Given the description of an element on the screen output the (x, y) to click on. 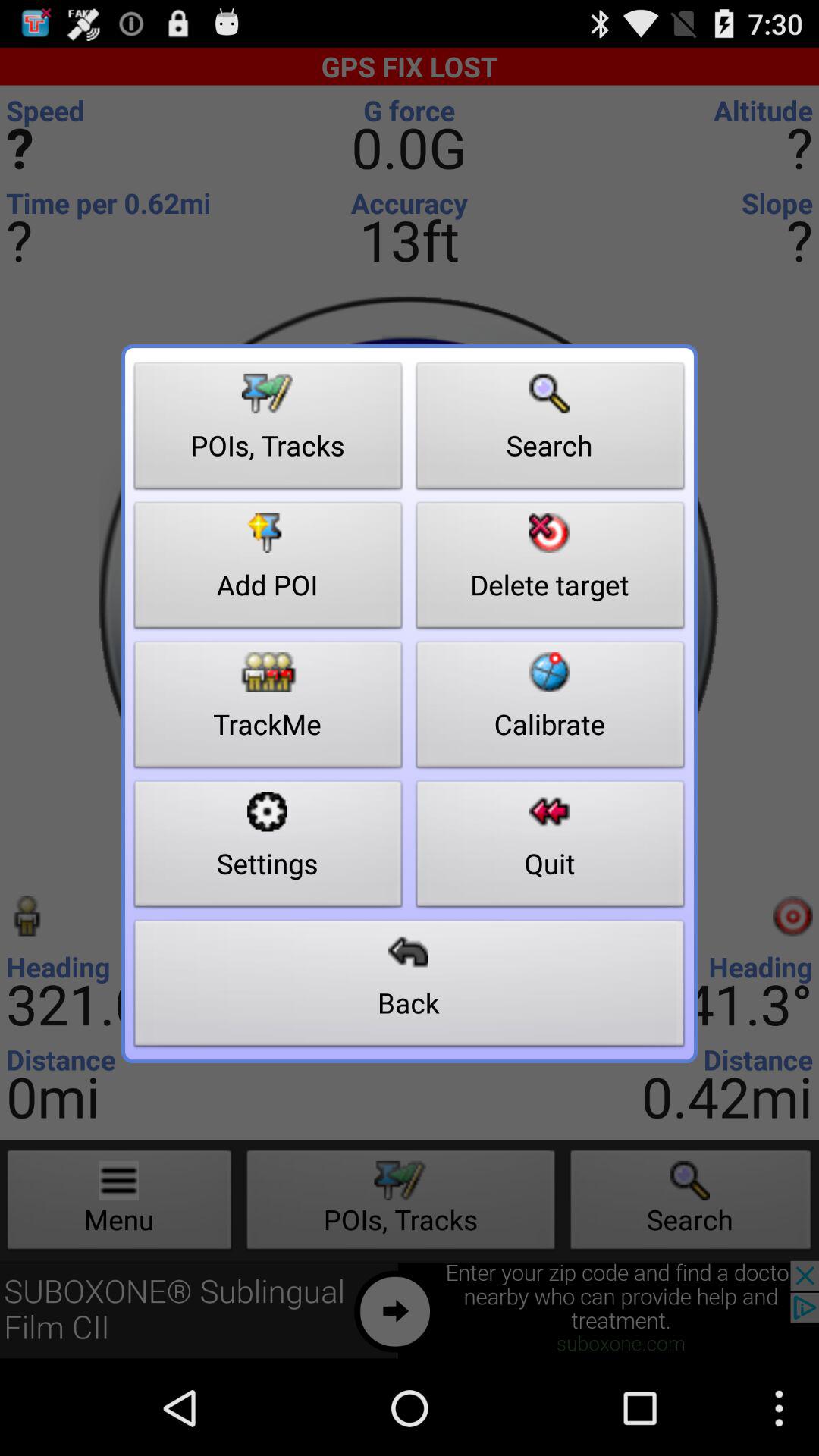
open icon above back (550, 847)
